Given the description of an element on the screen output the (x, y) to click on. 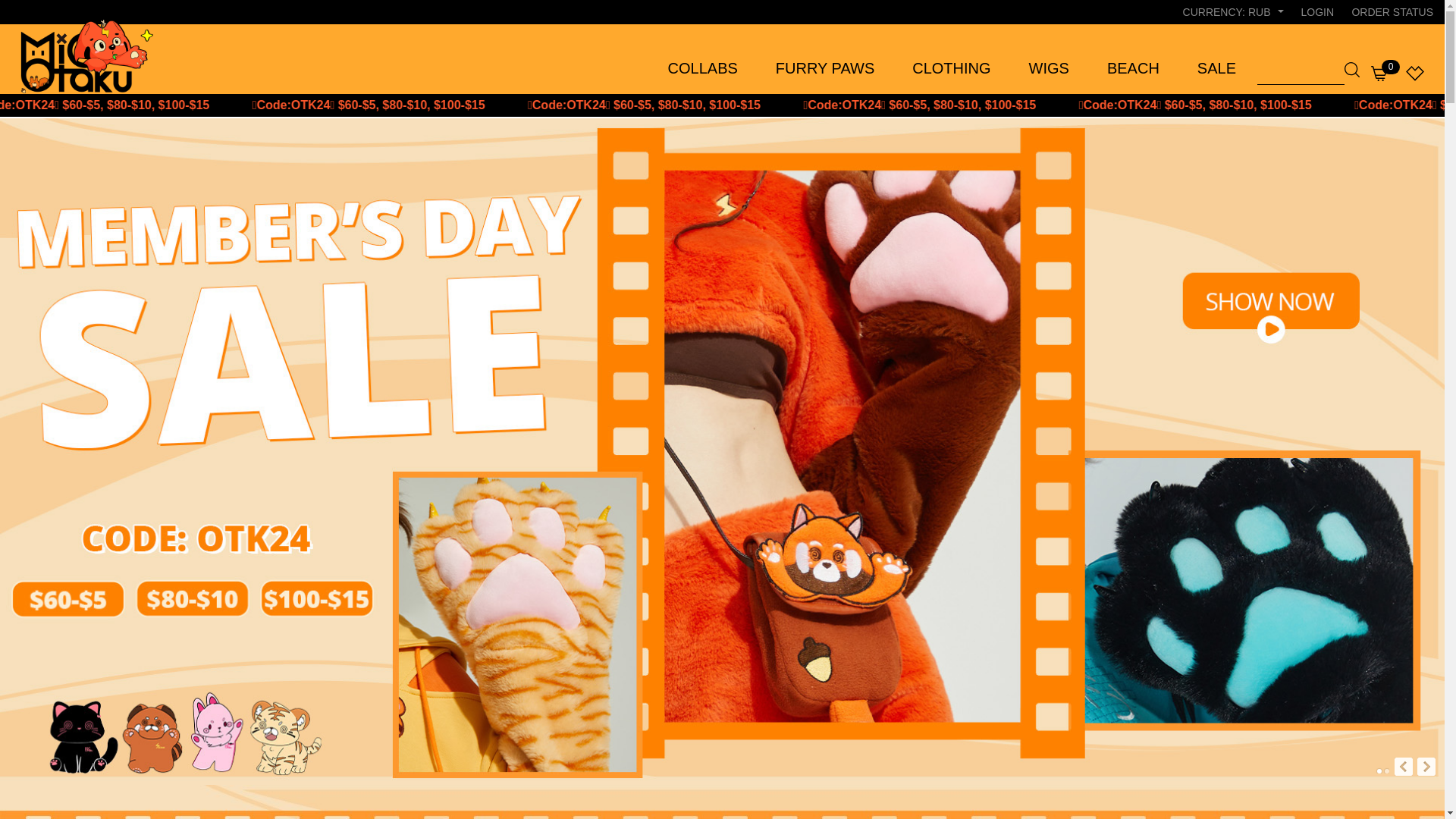
FURRY PAWS (825, 68)
LOGIN (1317, 12)
COLLABS (703, 68)
ORDER STATUS (1391, 12)
CURRENCY: RUB (1233, 12)
